Given the description of an element on the screen output the (x, y) to click on. 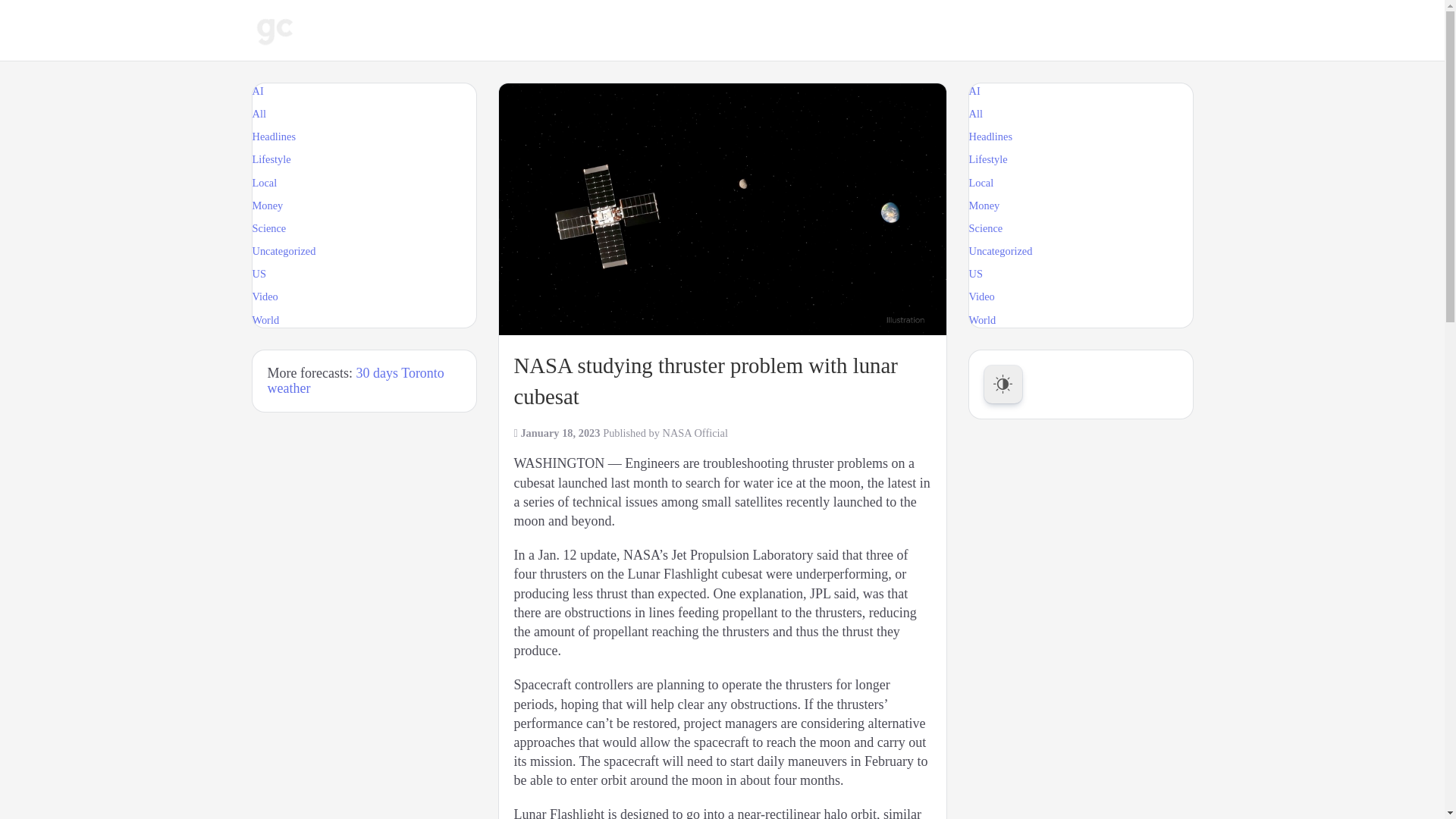
Headlines (273, 136)
Lifestyle (270, 159)
Ai Powered (568, 30)
NASA studying thruster problem with lunar cubesat (722, 208)
All (257, 113)
Science (268, 227)
Local (263, 182)
News (410, 30)
Flights (649, 30)
Money (266, 205)
